Given the description of an element on the screen output the (x, y) to click on. 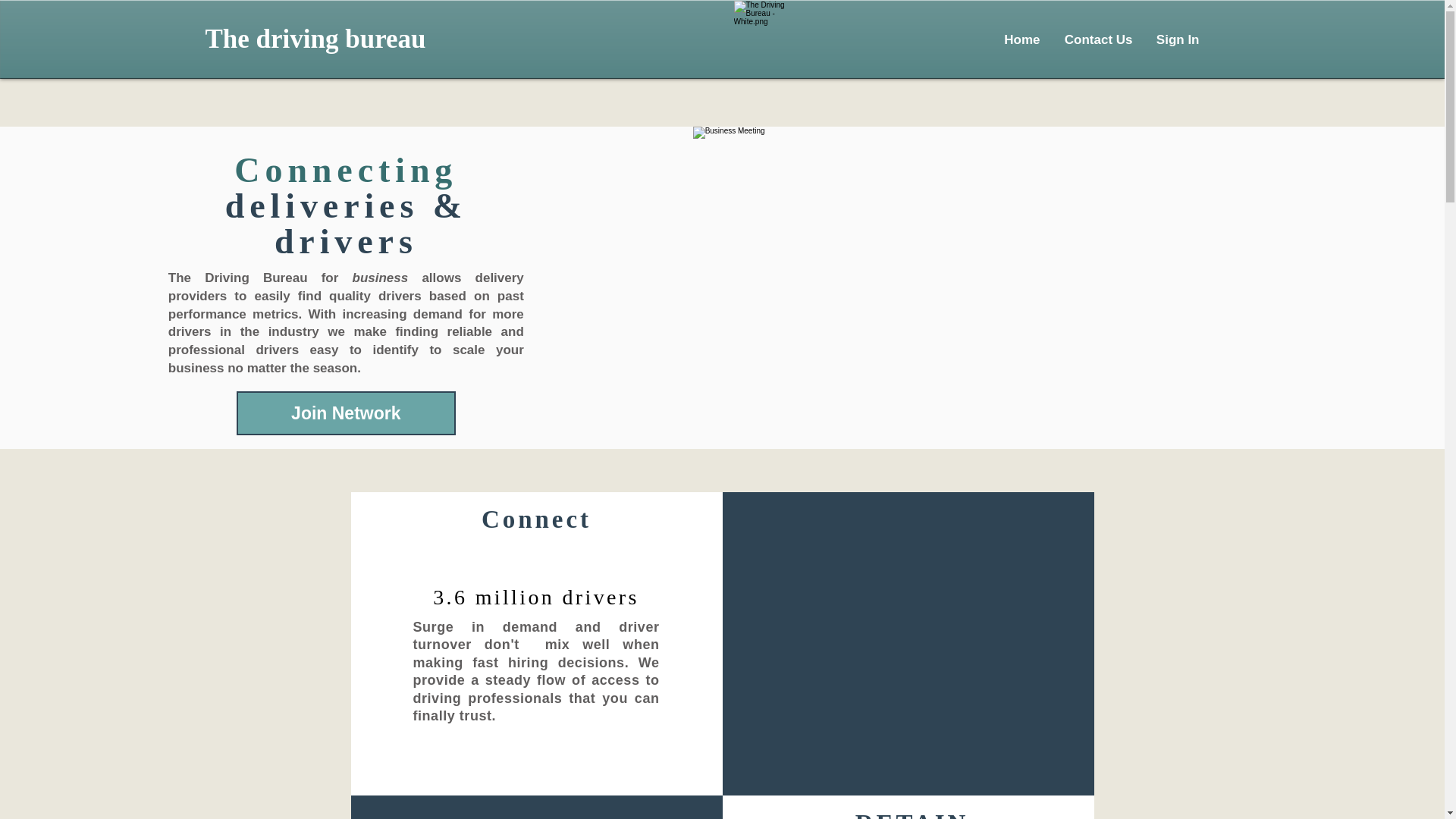
Sign In (1175, 40)
Contact Us (1096, 40)
Join Network (345, 412)
Home (1021, 40)
